Given the description of an element on the screen output the (x, y) to click on. 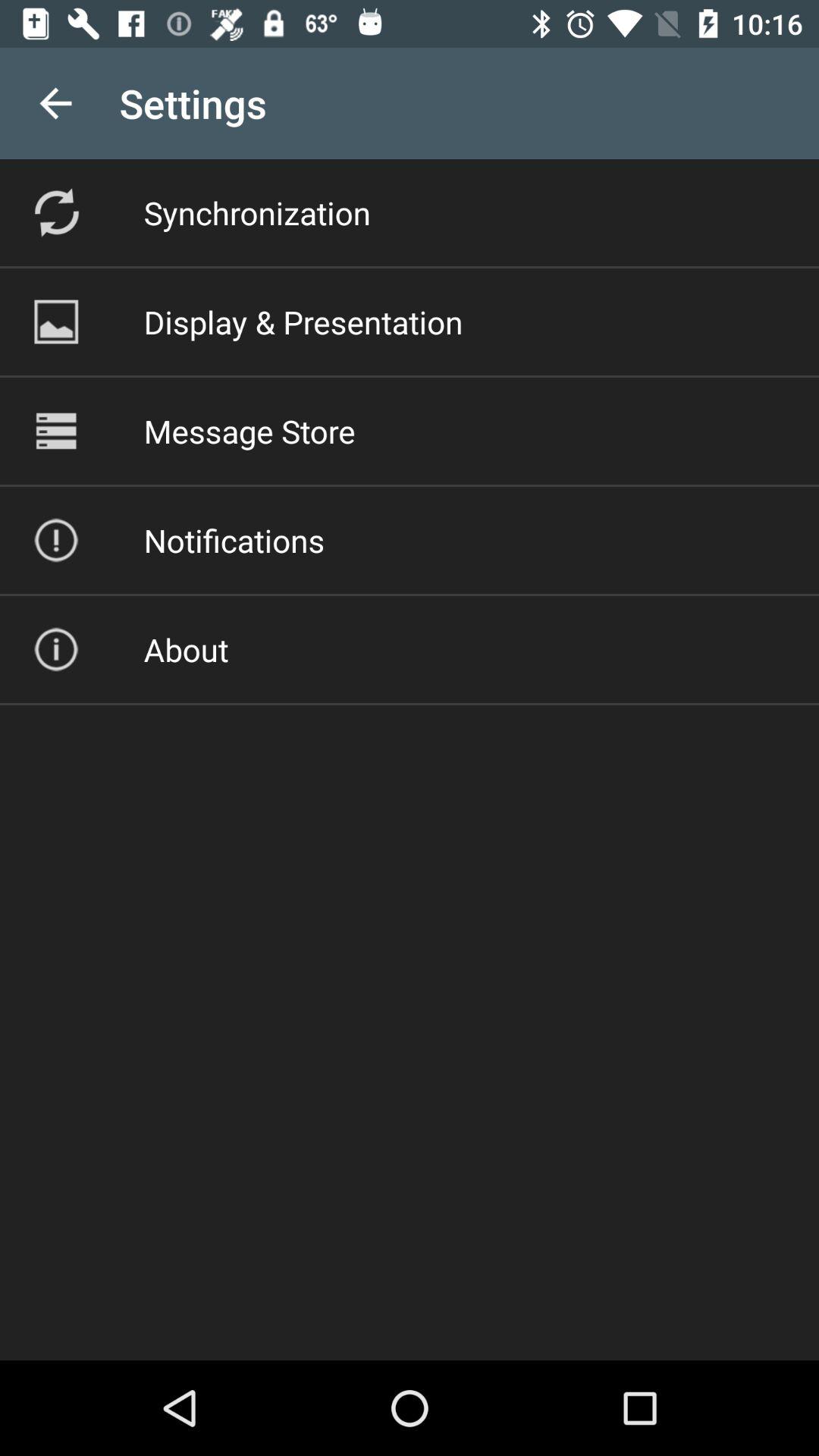
select the icon below the synchronization item (302, 321)
